Given the description of an element on the screen output the (x, y) to click on. 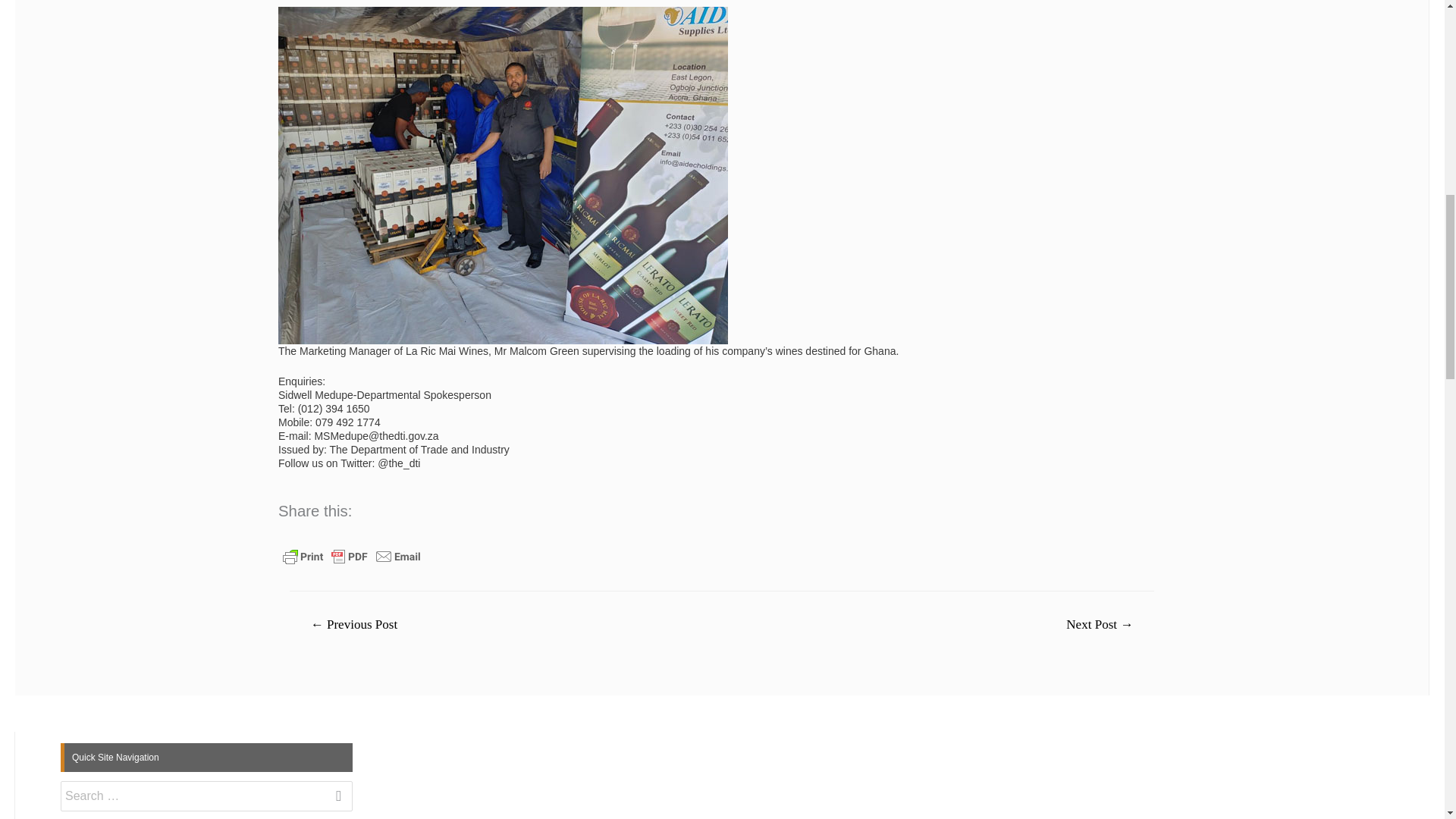
Search (335, 801)
Search (335, 801)
